Given the description of an element on the screen output the (x, y) to click on. 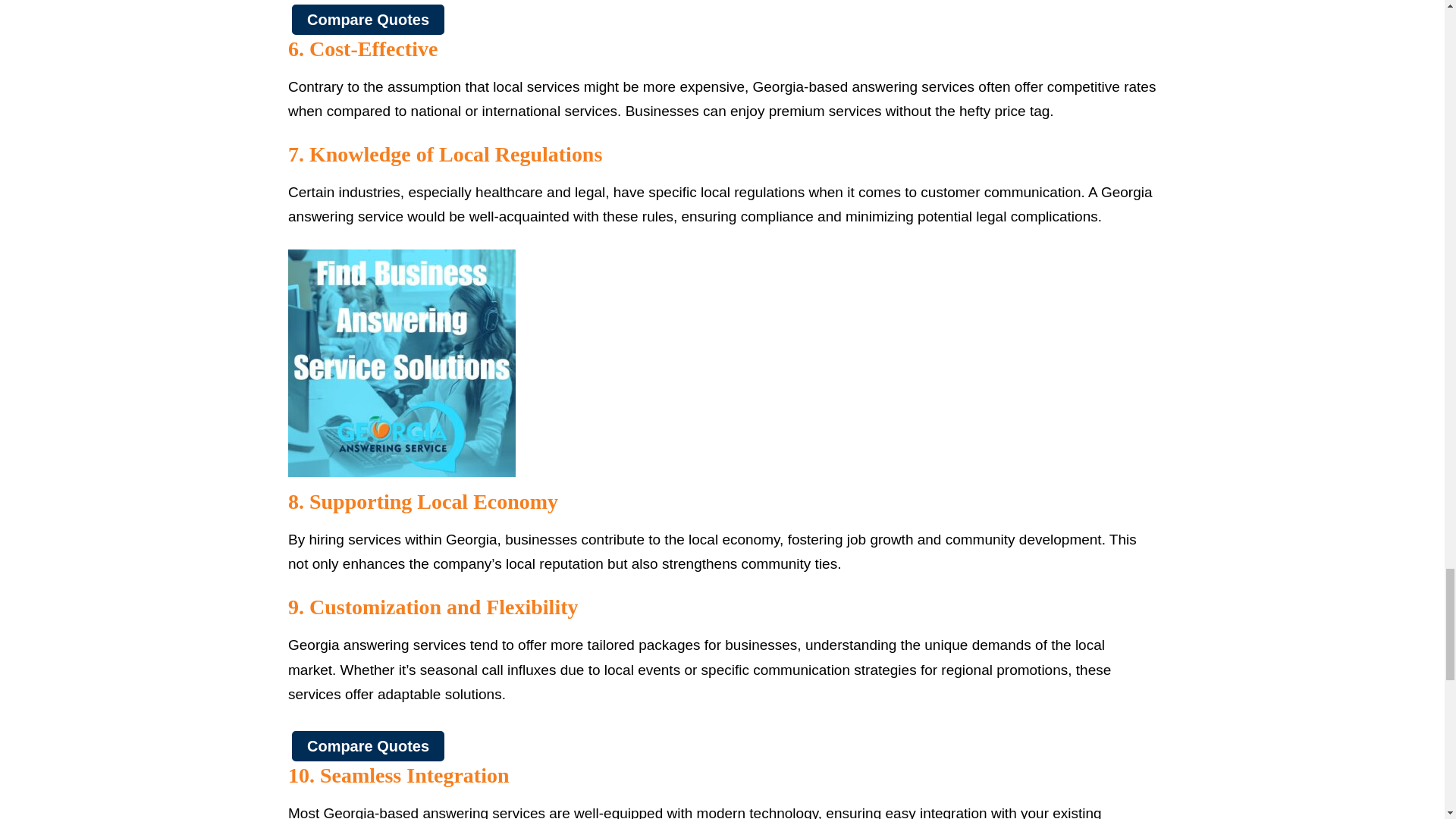
Answering Service Solutions (401, 362)
